Given the description of an element on the screen output the (x, y) to click on. 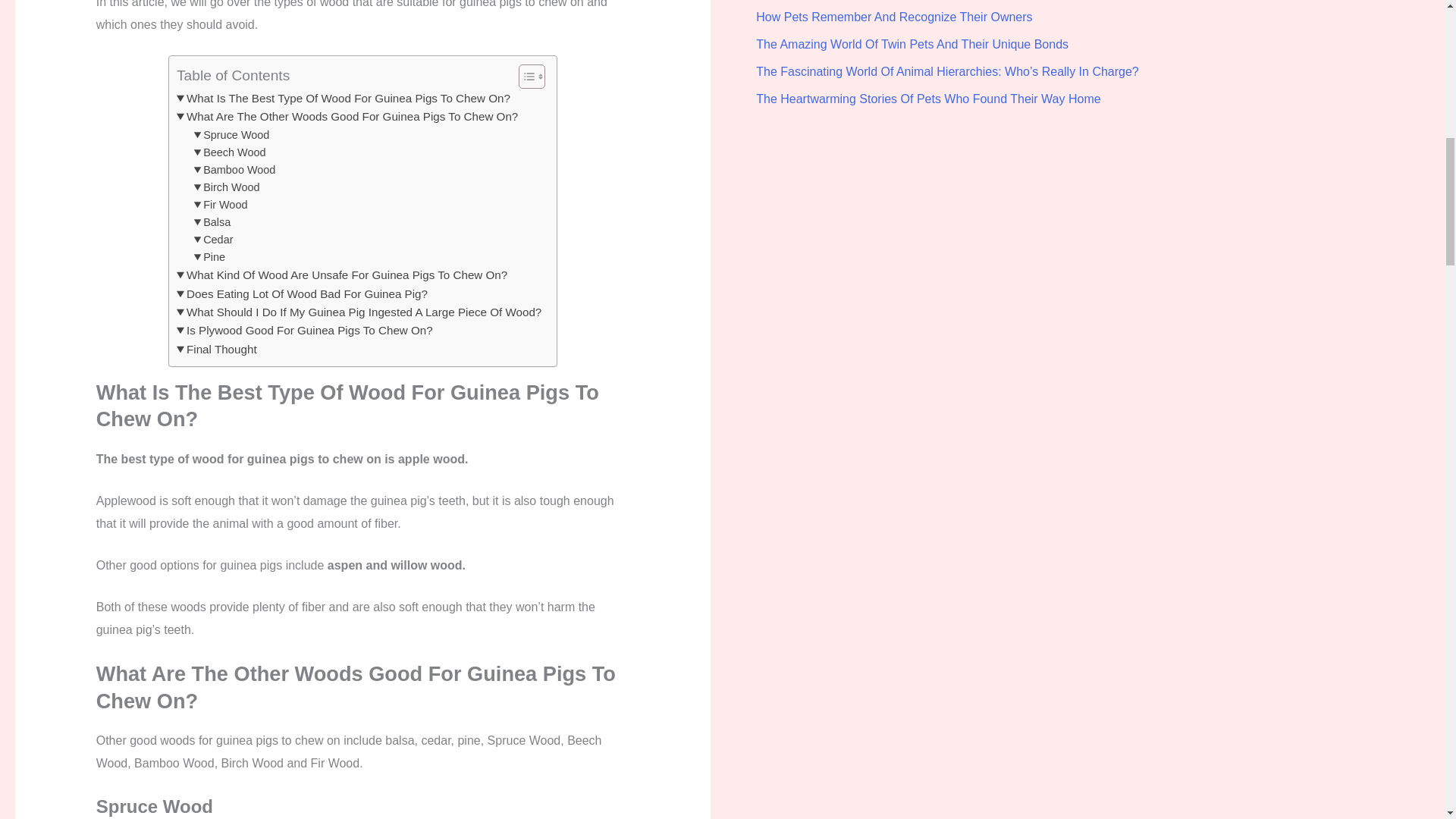
What Is The Best Type Of Wood For Guinea Pigs To Chew On? (343, 98)
Is Plywood Good For Guinea Pigs To Chew On? (304, 330)
Does Eating Lot Of Wood Bad For Guinea Pig? (302, 294)
What Are The Other Woods Good For Guinea Pigs To Chew On? (347, 116)
Fir Wood (220, 204)
Cedar (212, 239)
Beech Wood (229, 152)
Bamboo Wood (234, 170)
Balsa (212, 221)
